Given the description of an element on the screen output the (x, y) to click on. 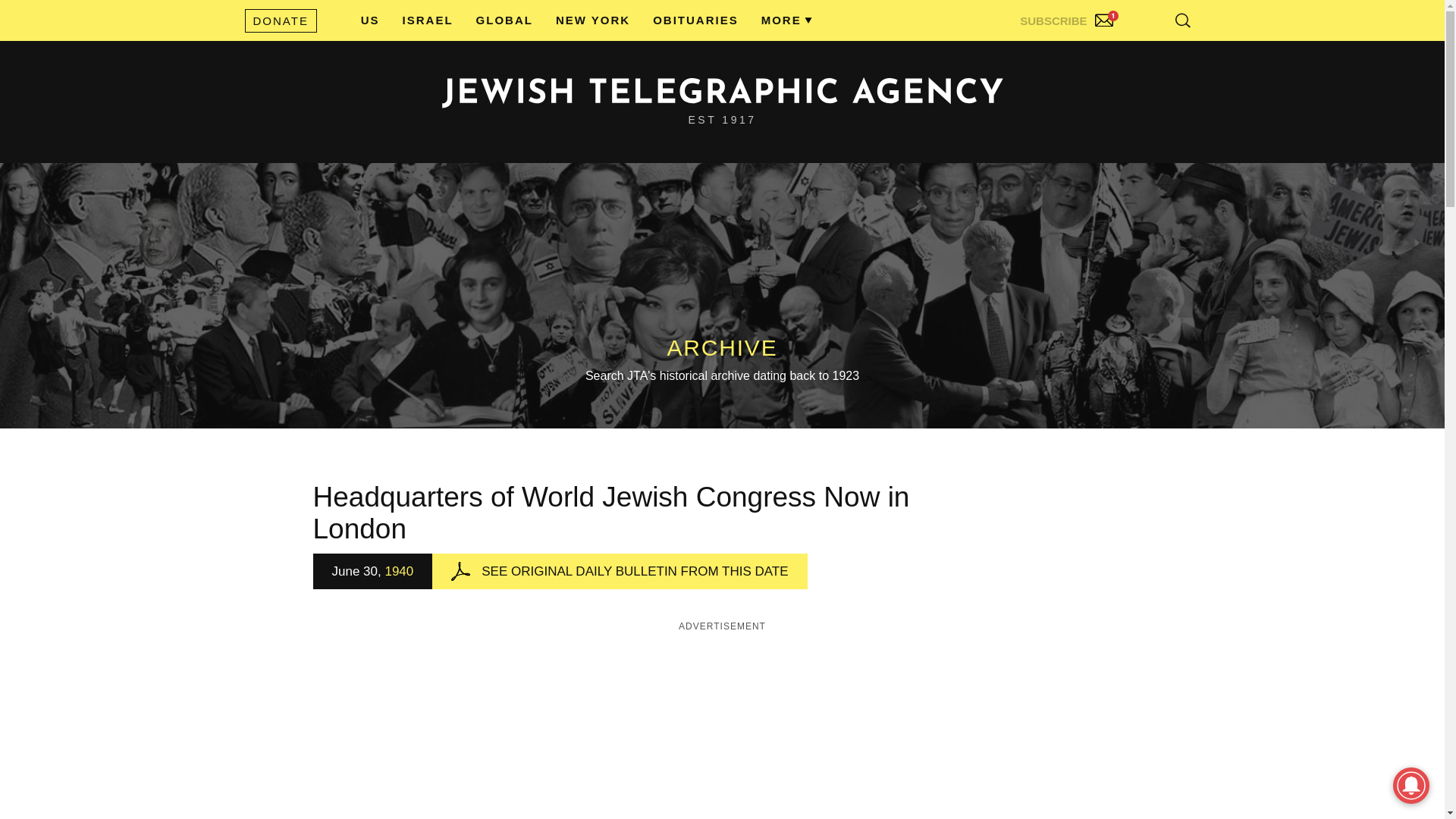
OBITUARIES (695, 19)
SUBSCRIBE (1068, 17)
SEARCH TOGGLESEARCH TOGGLE (1182, 20)
DONATE (279, 20)
Search (1144, 53)
GLOBAL (504, 19)
3rd party ad content (722, 728)
MORE (781, 19)
ISRAEL (427, 19)
US (370, 19)
NEW YORK (593, 19)
